Given the description of an element on the screen output the (x, y) to click on. 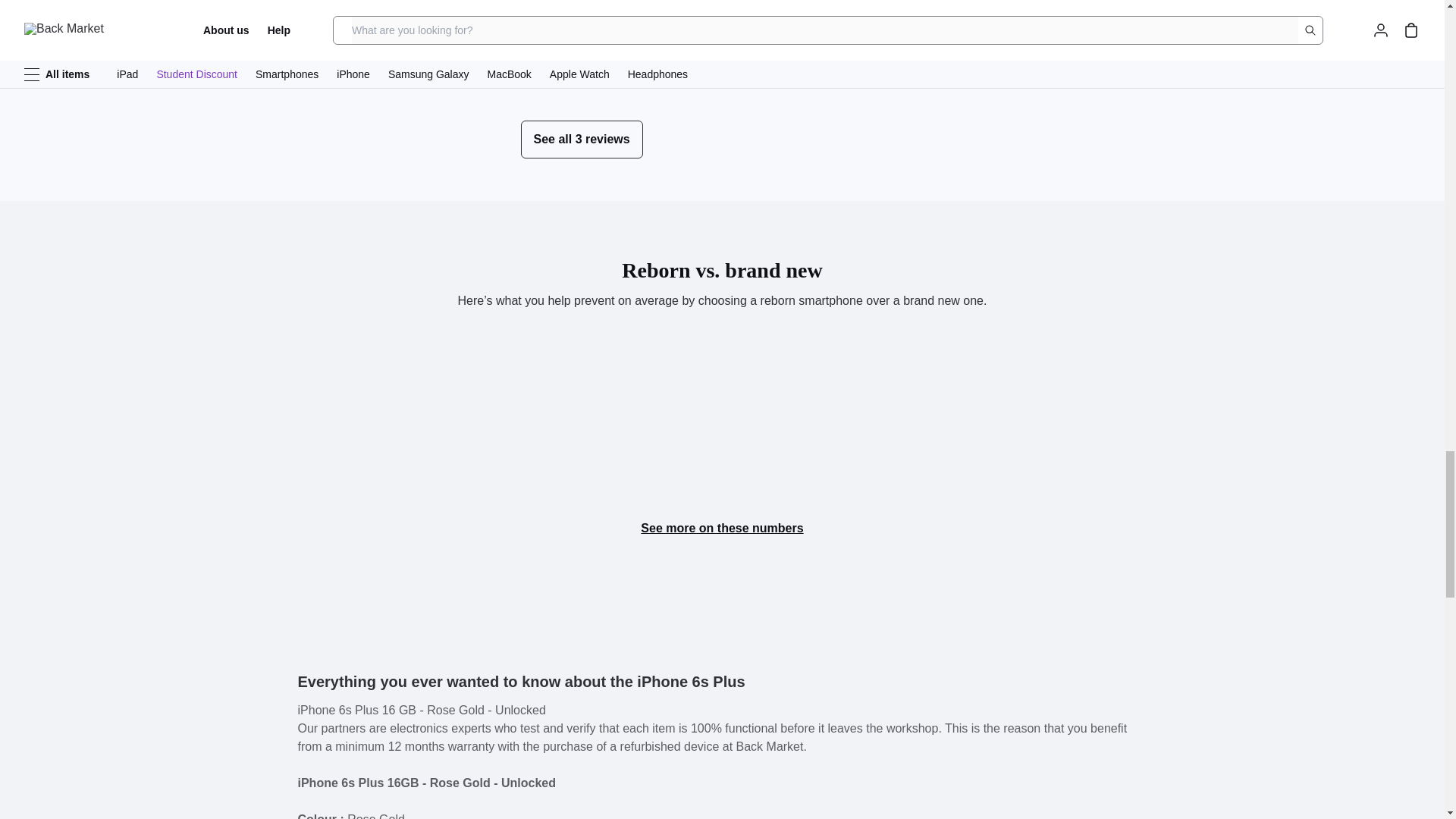
iPhone 6s Plus 16GB - Rose Gold - Unlocked (833, 68)
See more on these numbers (721, 528)
See all 3 reviews (580, 139)
iPhone 6s Plus 16GB - Rose Gold - Unlocked (635, 65)
